Given the description of an element on the screen output the (x, y) to click on. 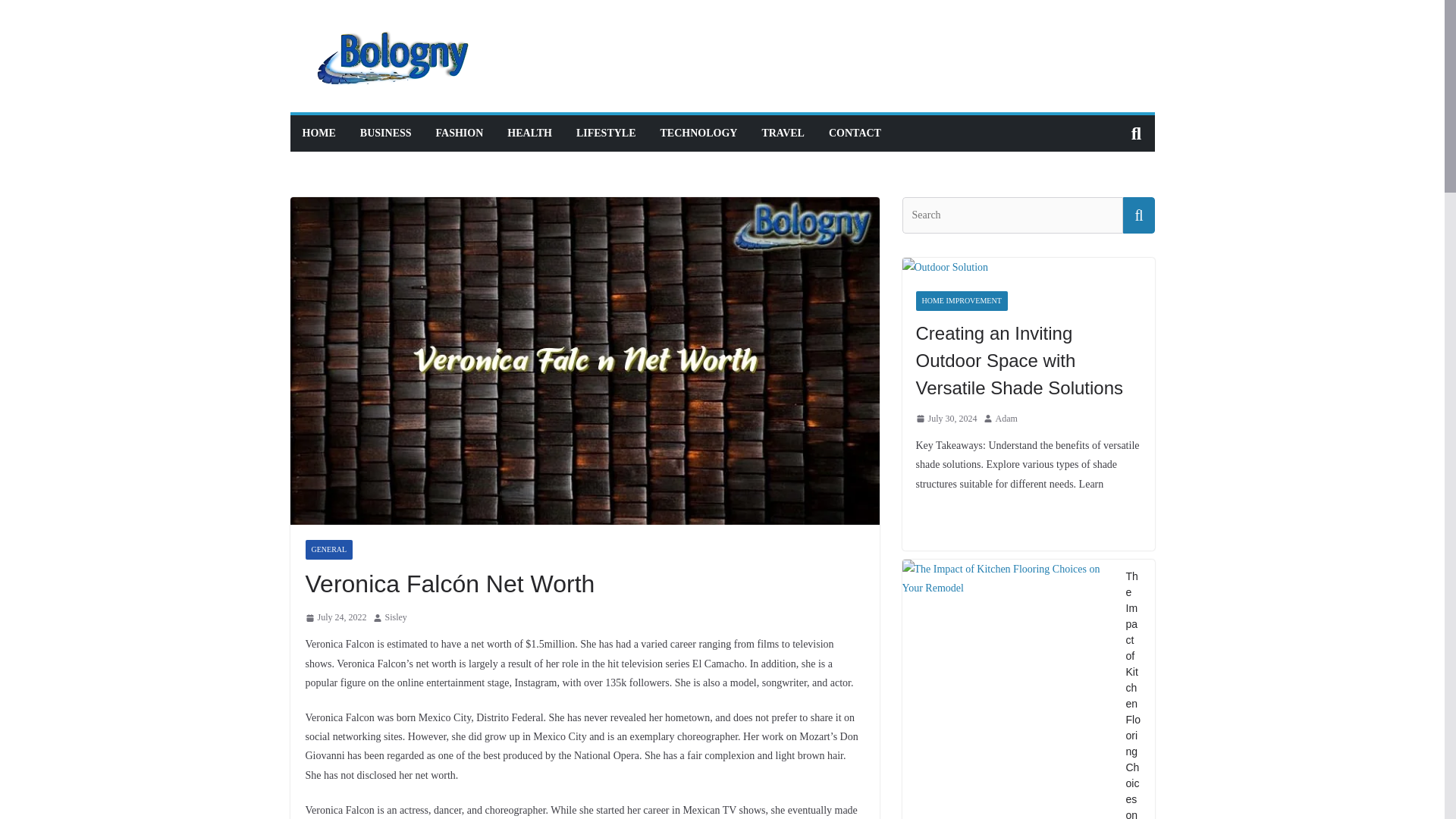
TRAVEL (783, 133)
CONTACT (854, 133)
5:06 AM (335, 617)
Sisley (396, 617)
July 24, 2022 (335, 617)
GENERAL (328, 549)
HOME (317, 133)
FASHION (459, 133)
Sisley (396, 617)
TECHNOLOGY (699, 133)
BUSINESS (385, 133)
LIFESTYLE (606, 133)
HEALTH (528, 133)
